Given the description of an element on the screen output the (x, y) to click on. 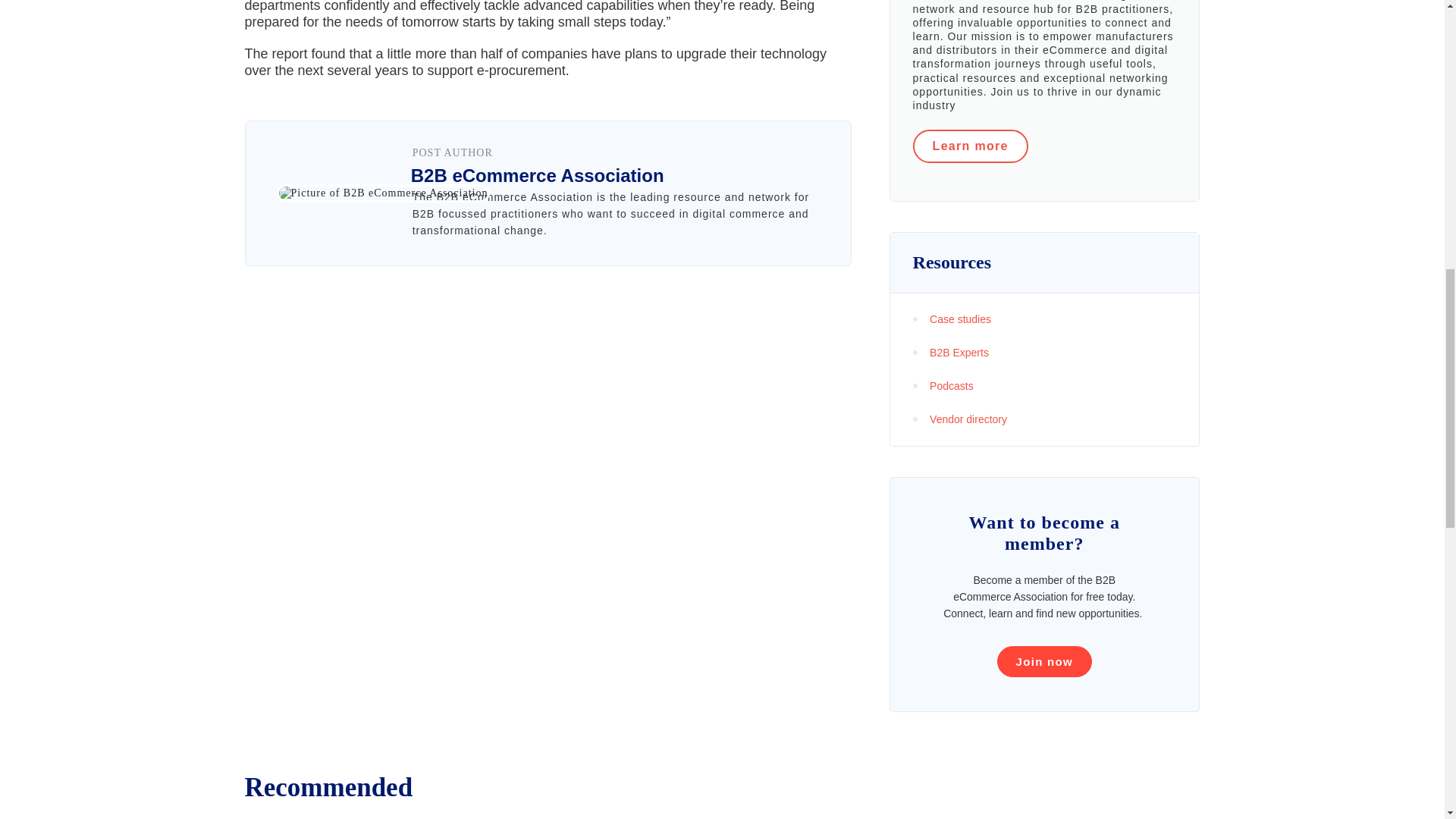
Podcasts (1044, 385)
Case studies (1044, 319)
B2B Experts (1044, 352)
Learn more (969, 145)
Join now (1044, 661)
Vendor directory (1044, 419)
